Given the description of an element on the screen output the (x, y) to click on. 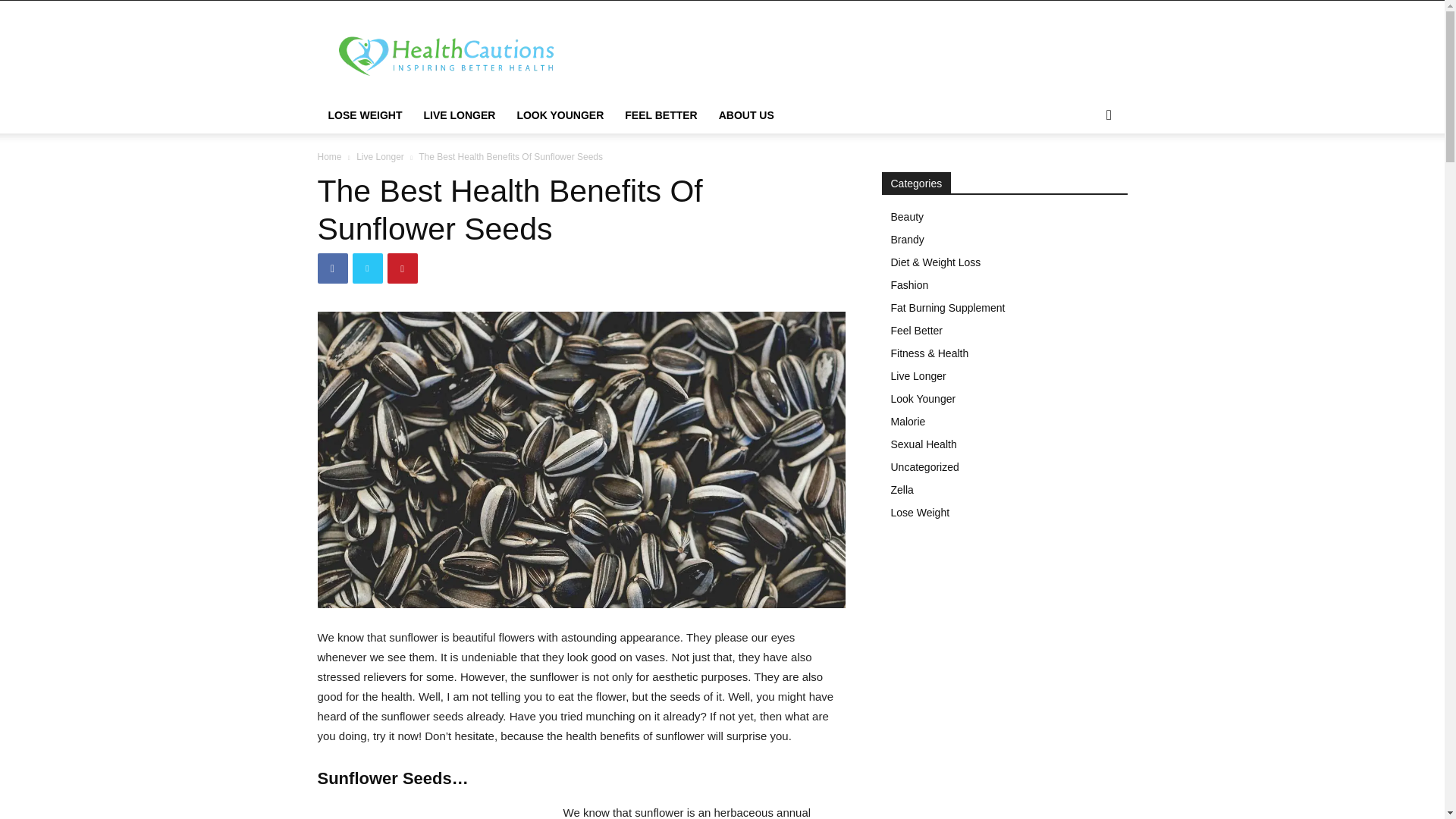
Home (328, 156)
ABOUT US (745, 115)
Search (1085, 175)
LOSE WEIGHT (364, 115)
FEEL BETTER (660, 115)
View all posts in Live Longer (380, 156)
Live Longer (380, 156)
LIVE LONGER (458, 115)
LOOK YOUNGER (559, 115)
